Given the description of an element on the screen output the (x, y) to click on. 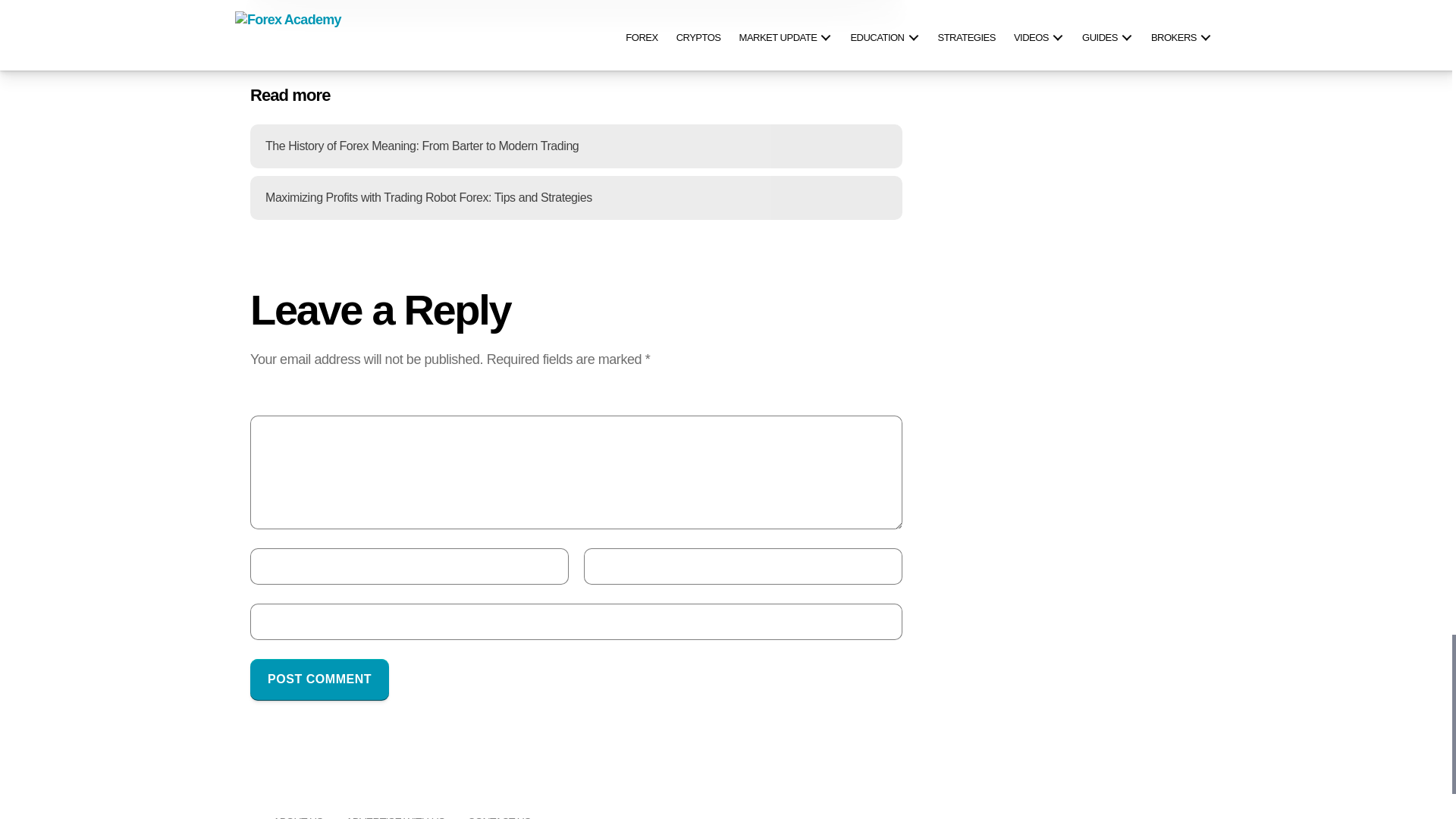
Post Comment (319, 680)
